Given the description of an element on the screen output the (x, y) to click on. 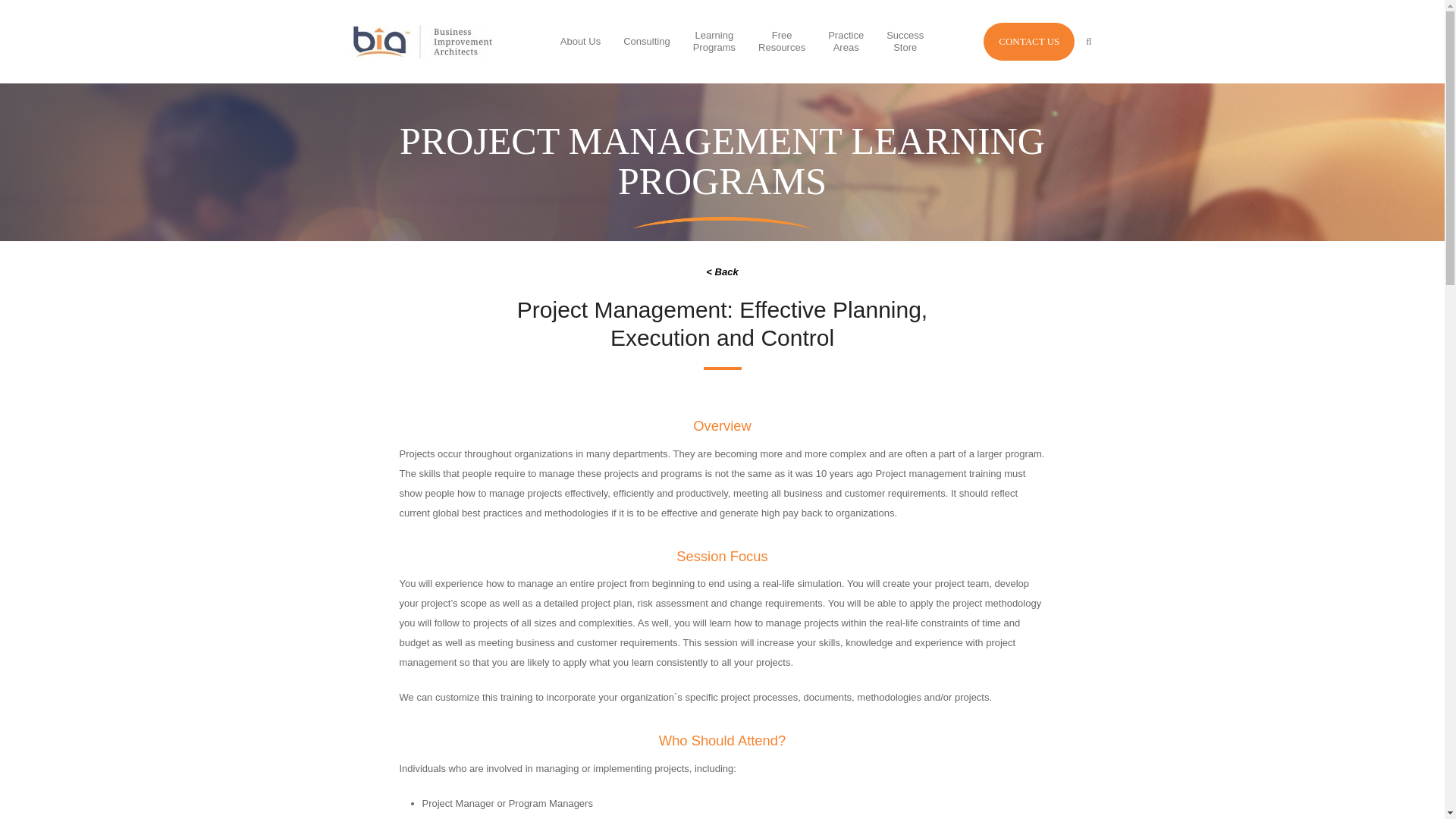
Consulting (646, 41)
About Us (781, 43)
